Given the description of an element on the screen output the (x, y) to click on. 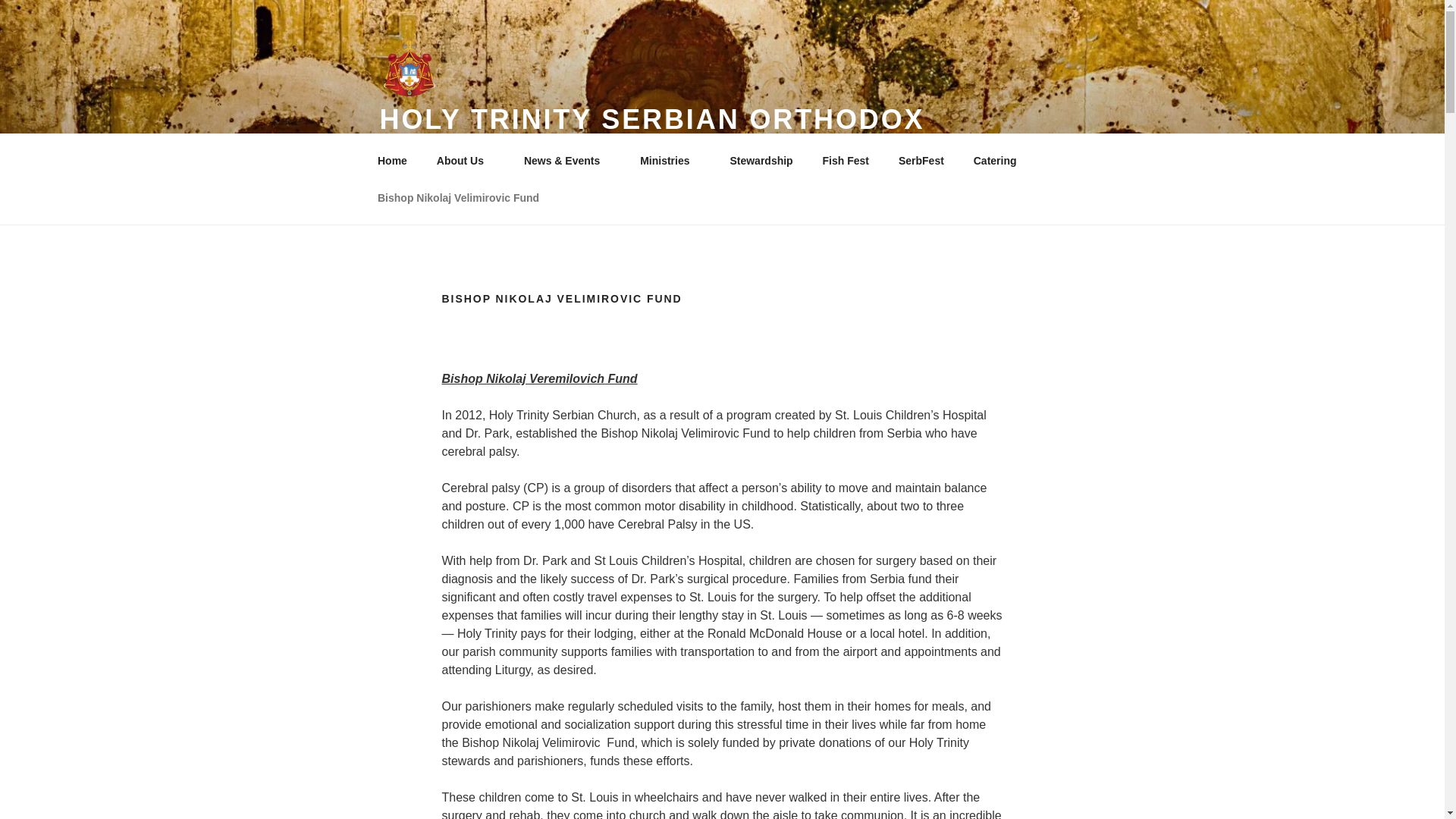
SerbFest (920, 160)
Fish Fest (845, 160)
Bishop Nikolaj Velimirovic Fund (457, 197)
HOLY TRINITY SERBIAN ORTHODOX CHURCH (651, 136)
About Us (464, 160)
Ministries (670, 160)
Catering (994, 160)
Stewardship (761, 160)
Home (392, 160)
